Given the description of an element on the screen output the (x, y) to click on. 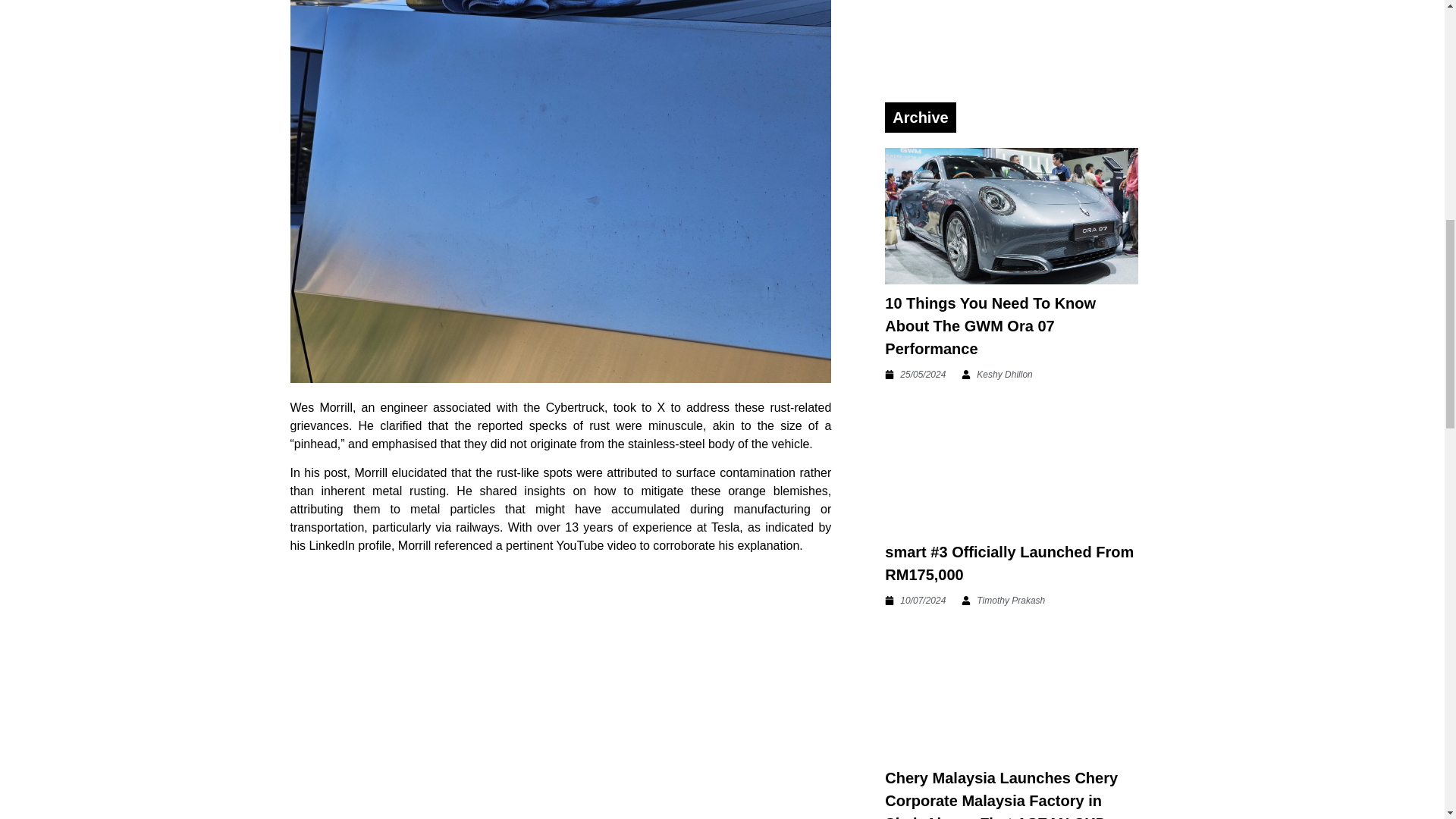
Advertisement (1005, 44)
